Given the description of an element on the screen output the (x, y) to click on. 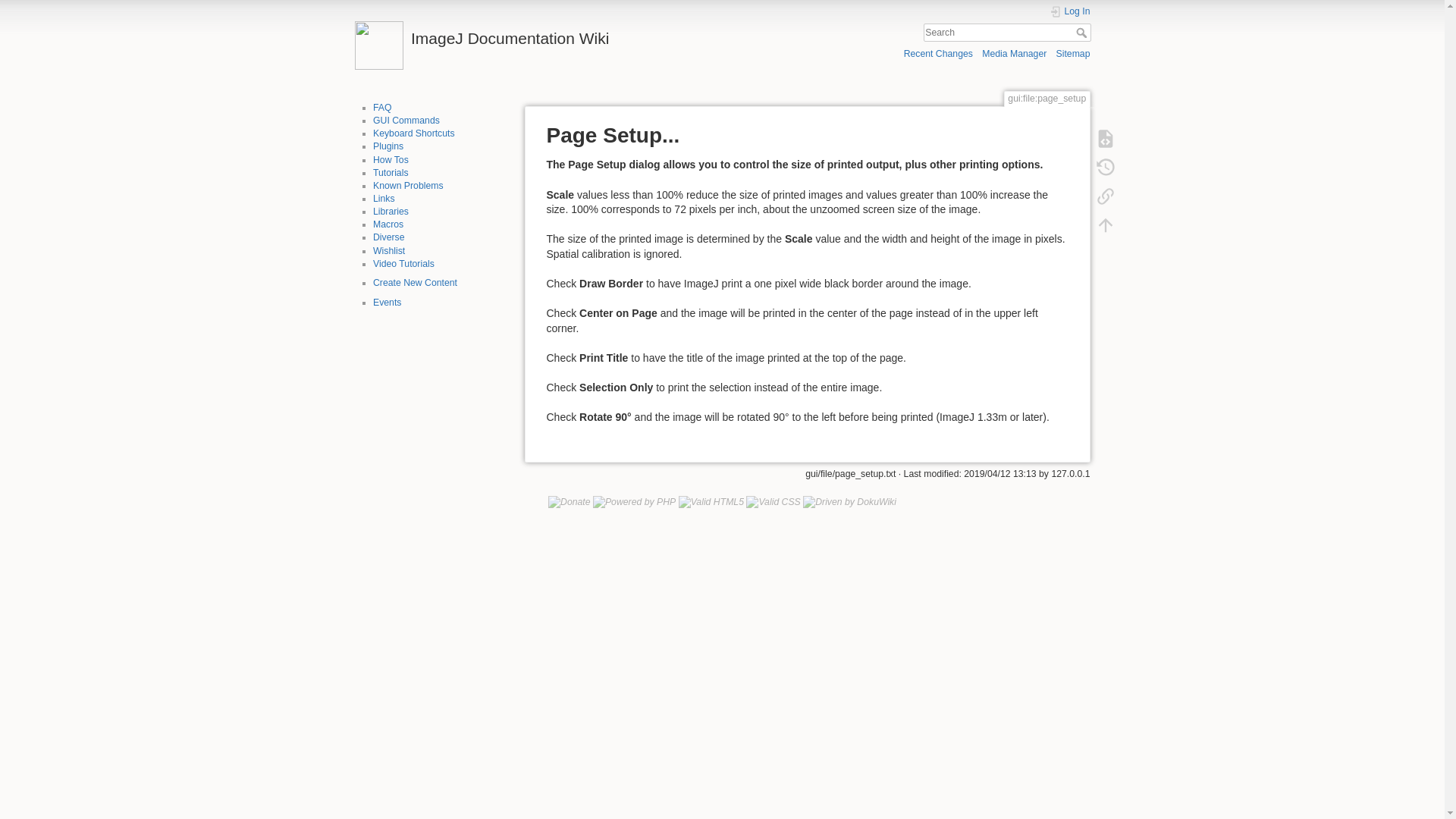
Log In (1069, 11)
Diverse (388, 236)
keyboard:start (413, 132)
Macros (387, 224)
gui:start (405, 120)
Media Manager (1013, 53)
Events (386, 302)
ImageJ Documentation Wiki (534, 34)
Sitemap (1073, 53)
FAQ (381, 107)
